Given the description of an element on the screen output the (x, y) to click on. 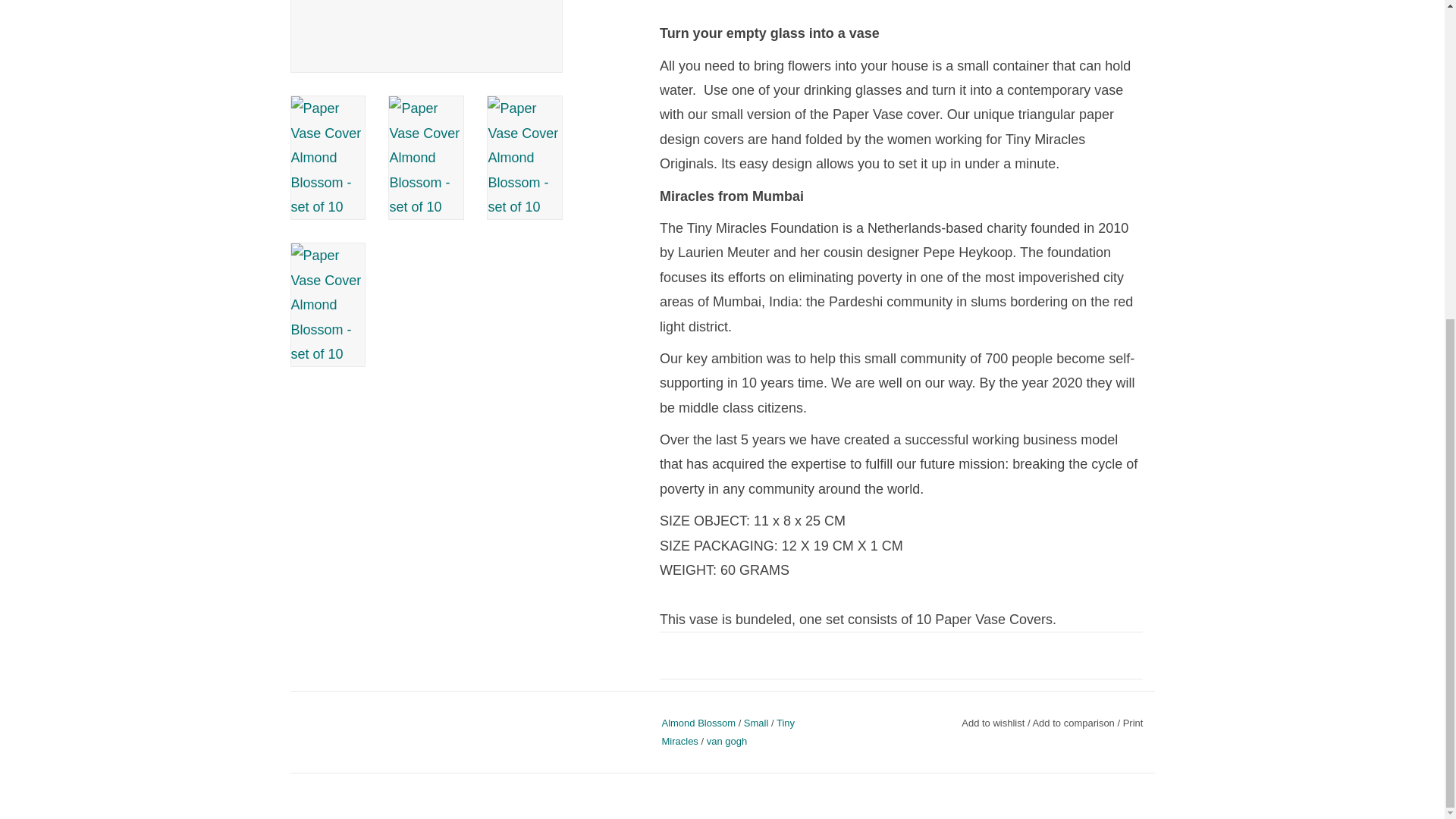
Small (756, 722)
Almond Blossom (698, 722)
Tiny Miracles (727, 731)
